Given the description of an element on the screen output the (x, y) to click on. 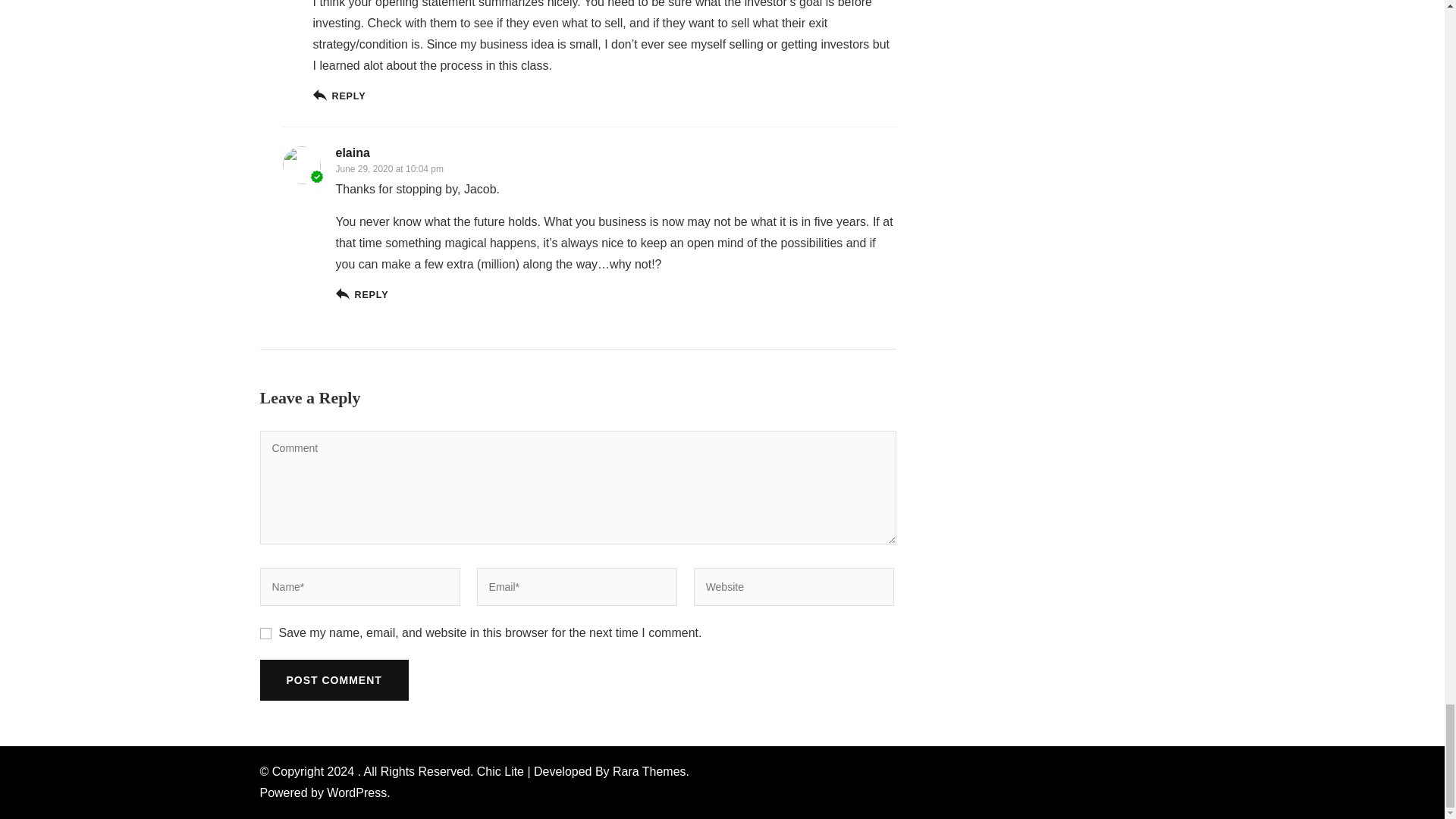
Post Comment (333, 680)
